Given the description of an element on the screen output the (x, y) to click on. 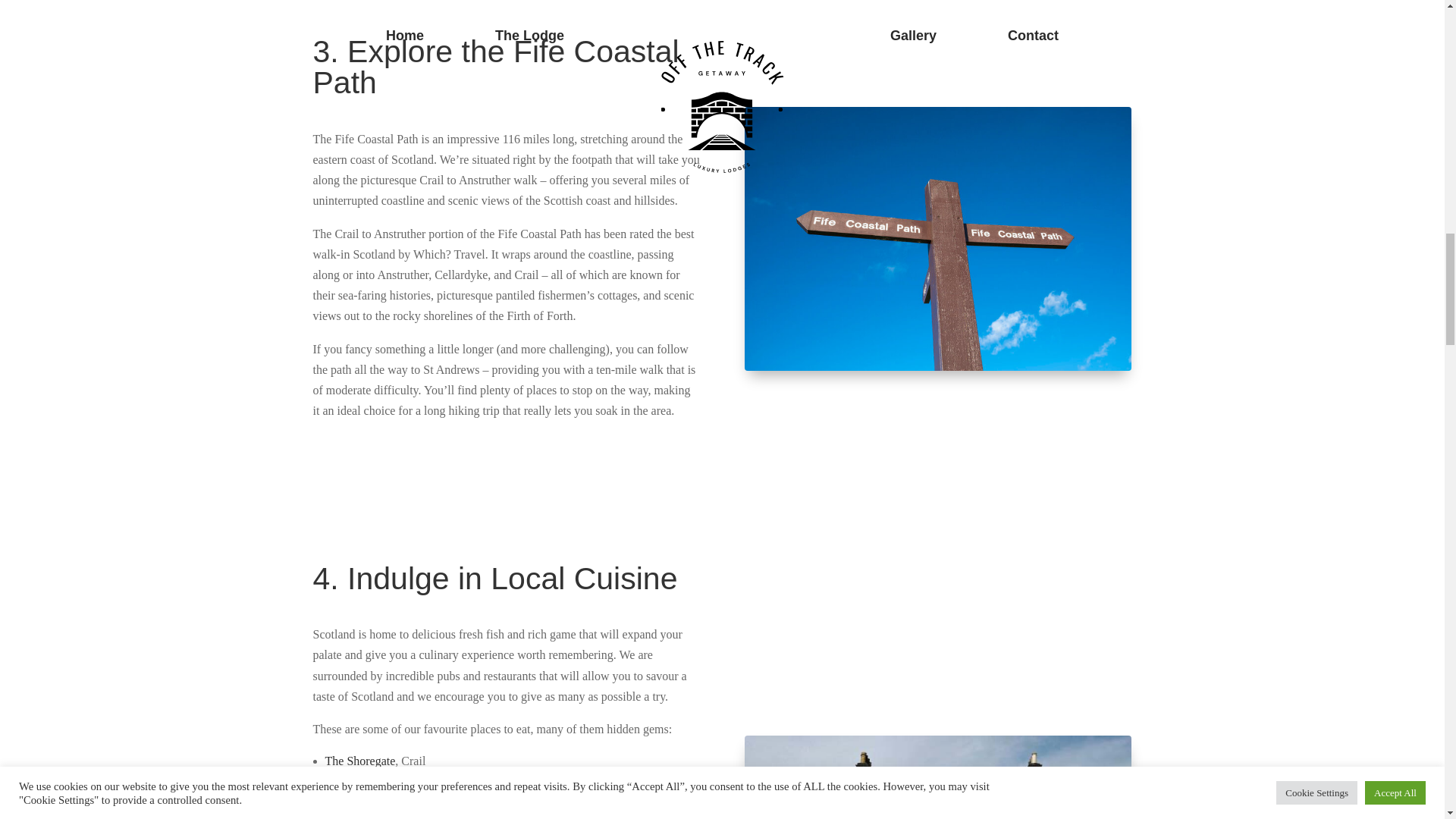
The Shoregate, Crail (937, 777)
The Shoregate (359, 760)
Crail Fishbar (356, 816)
Fife Coastal Path sign by St Monans (937, 239)
